Given the description of an element on the screen output the (x, y) to click on. 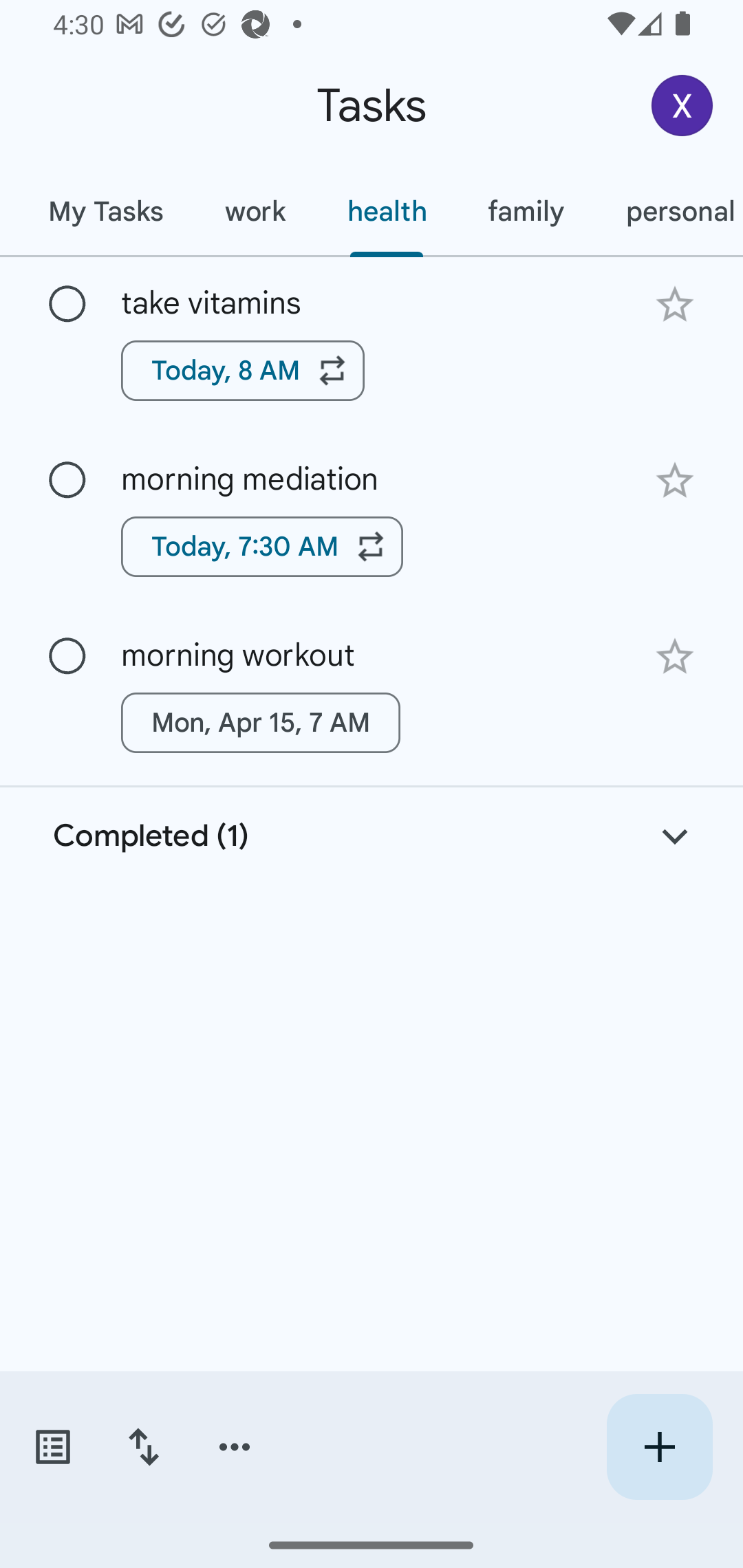
My Tasks (105, 211)
work (254, 211)
family (525, 211)
personal (669, 211)
Add star (674, 303)
Mark as complete (67, 304)
Today, 8 AM (242, 369)
Add star (674, 480)
Mark as complete (67, 480)
Today, 7:30 AM (262, 546)
Add star (674, 656)
Mark as complete (67, 655)
Mon, Apr 15, 7 AM (260, 722)
Completed (1) (371, 836)
Switch task lists (52, 1447)
Create new task (659, 1446)
Change sort order (143, 1446)
More options (234, 1446)
